Given the description of an element on the screen output the (x, y) to click on. 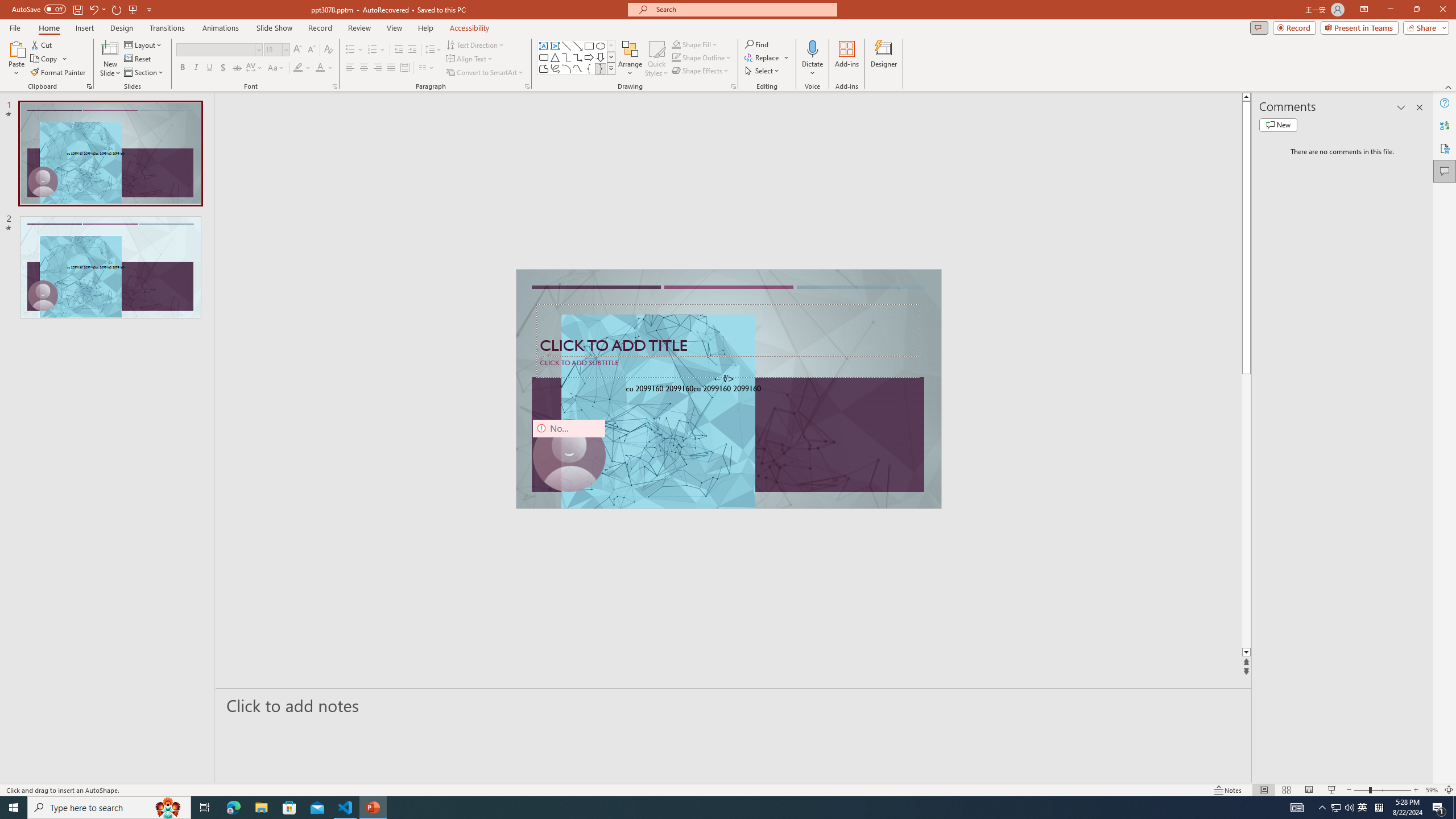
Curve (577, 68)
Format Object... (733, 85)
Isosceles Triangle (554, 57)
Increase Font Size (297, 49)
Numbering (376, 49)
Right Brace (600, 68)
Text Box (543, 45)
Copy (45, 58)
Shape Outline (701, 56)
Bullets (354, 49)
Align Left (349, 67)
Font (215, 49)
Bold (182, 67)
